Given the description of an element on the screen output the (x, y) to click on. 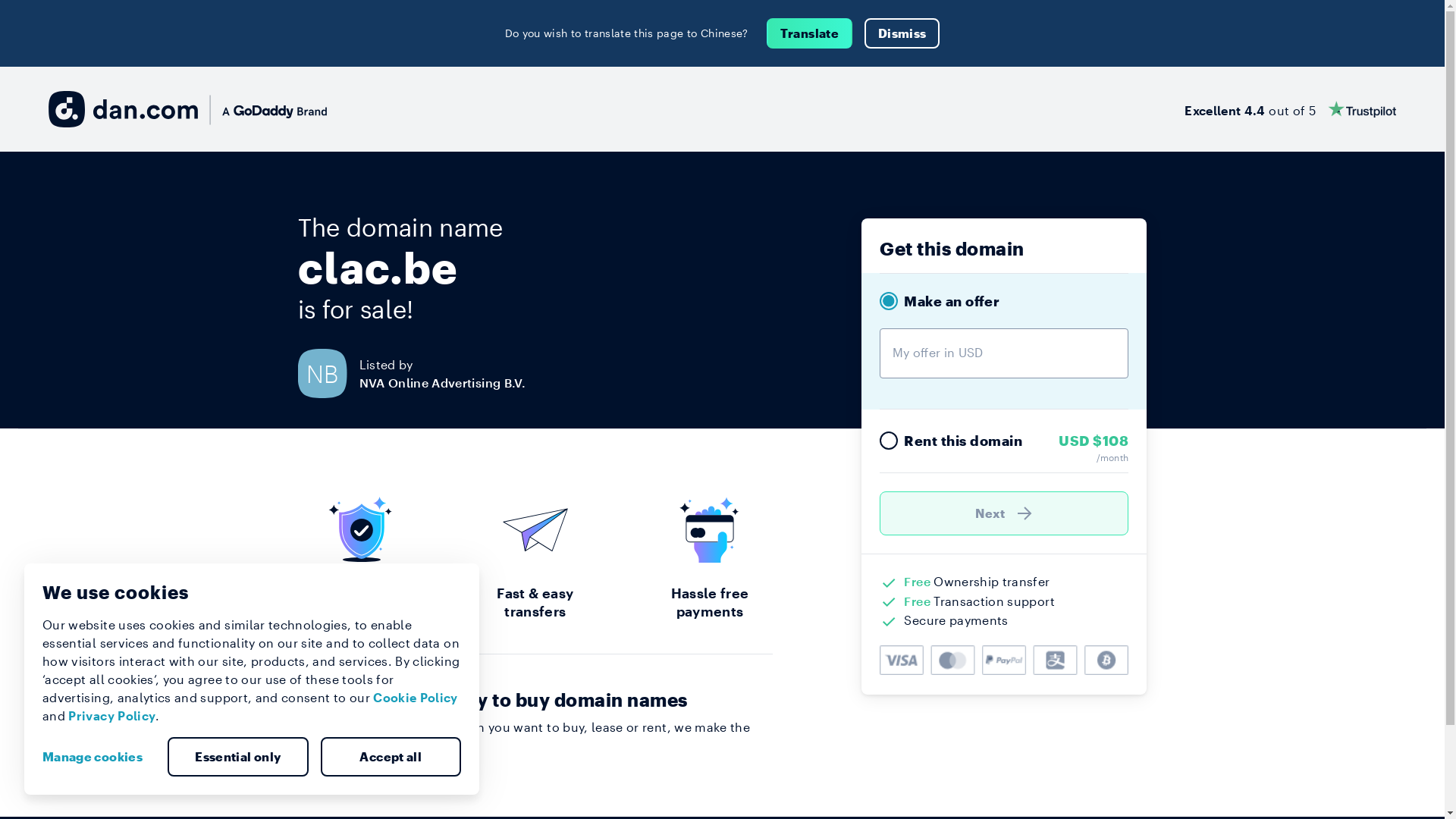
Dismiss Element type: text (901, 33)
Manage cookies Element type: text (98, 756)
Cookie Policy Element type: text (415, 697)
Excellent 4.4 out of 5 Element type: text (1290, 109)
Privacy Policy Element type: text (111, 715)
Translate Element type: text (809, 33)
Next
) Element type: text (1003, 513)
Essential only Element type: text (237, 756)
Accept all Element type: text (390, 756)
